Given the description of an element on the screen output the (x, y) to click on. 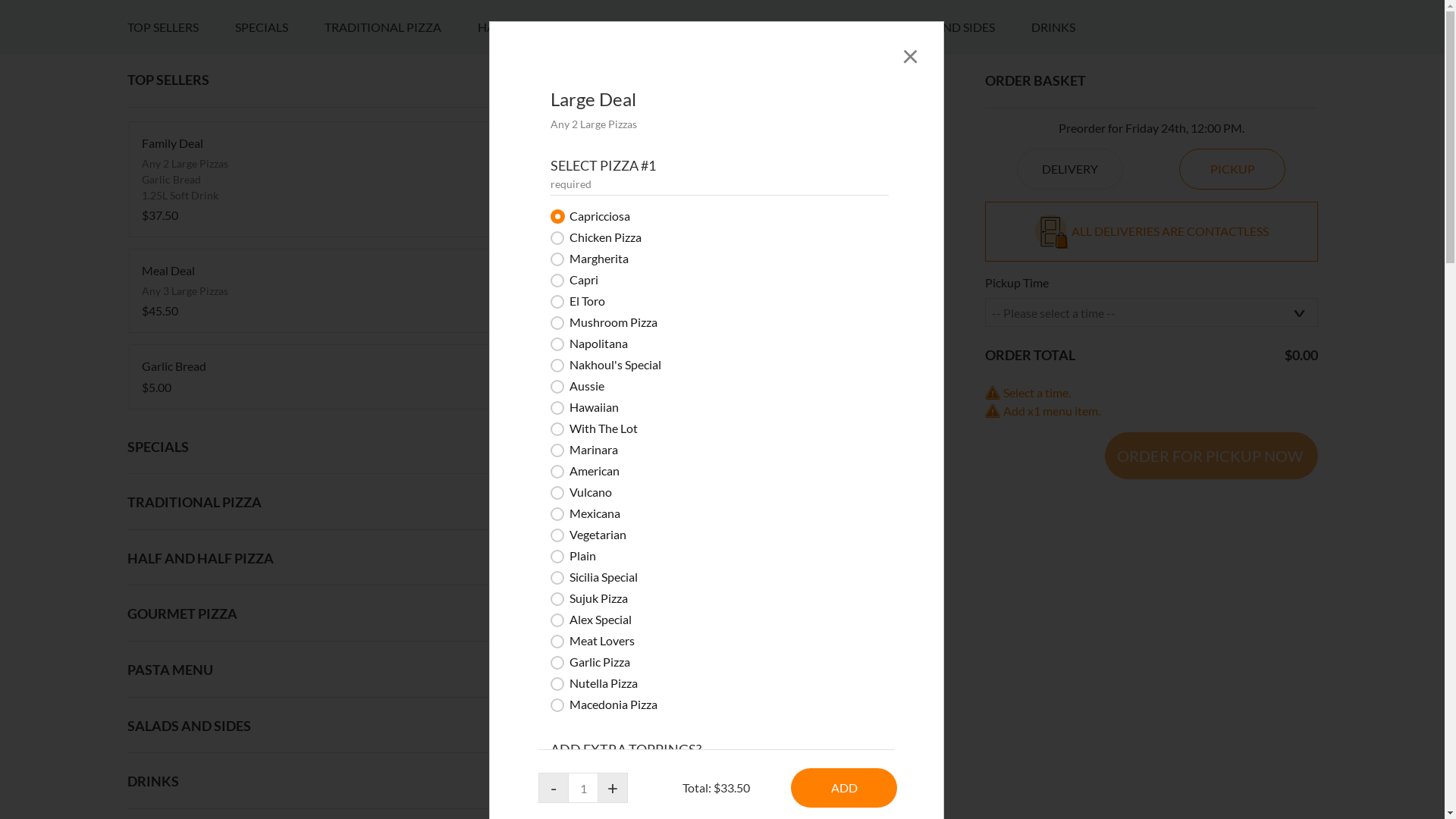
SPECIALS Element type: text (279, 414)
Margheritia
Tomato, cheese, beet, mushrooms
$13.50 Element type: text (722, 678)
Garlic Bread
$5.00 Element type: text (317, 764)
Meal Deal
Any 3 Large Pizzas
$45.50 Element type: text (317, 678)
Large Deal
Any 2 Large Pizzas
$33.50 Element type: text (722, 566)
SALADS AND SIDES Element type: text (958, 414)
Half n Half Large
$18.50 Element type: text (722, 764)
HALF AND HALF PIZZA Element type: text (560, 414)
Margheritia
Tomato, cheese, beet, mushrooms
$13.50 Element type: text (722, 678)
PASTA MENU Element type: text (831, 414)
PICKUP Element type: text (1232, 556)
61195 Element type: text (4, 392)
TRADITIONAL PIZZA Element type: text (400, 414)
GOURMET PIZZA Element type: text (710, 414)
DRINKS Element type: text (1071, 414)
Garlic Bread
$5.00 Element type: text (317, 764)
Meal Deal
Any 3 Large Pizzas
$45.50 Element type: text (317, 678)
Large Deal
Any 2 Large Pizzas
$33.50 Element type: text (722, 566)
Half n Half Large
$18.50 Element type: text (722, 764)
TOP SELLERS Element type: text (181, 414)
DELIVERY Element type: text (1069, 556)
